Given the description of an element on the screen output the (x, y) to click on. 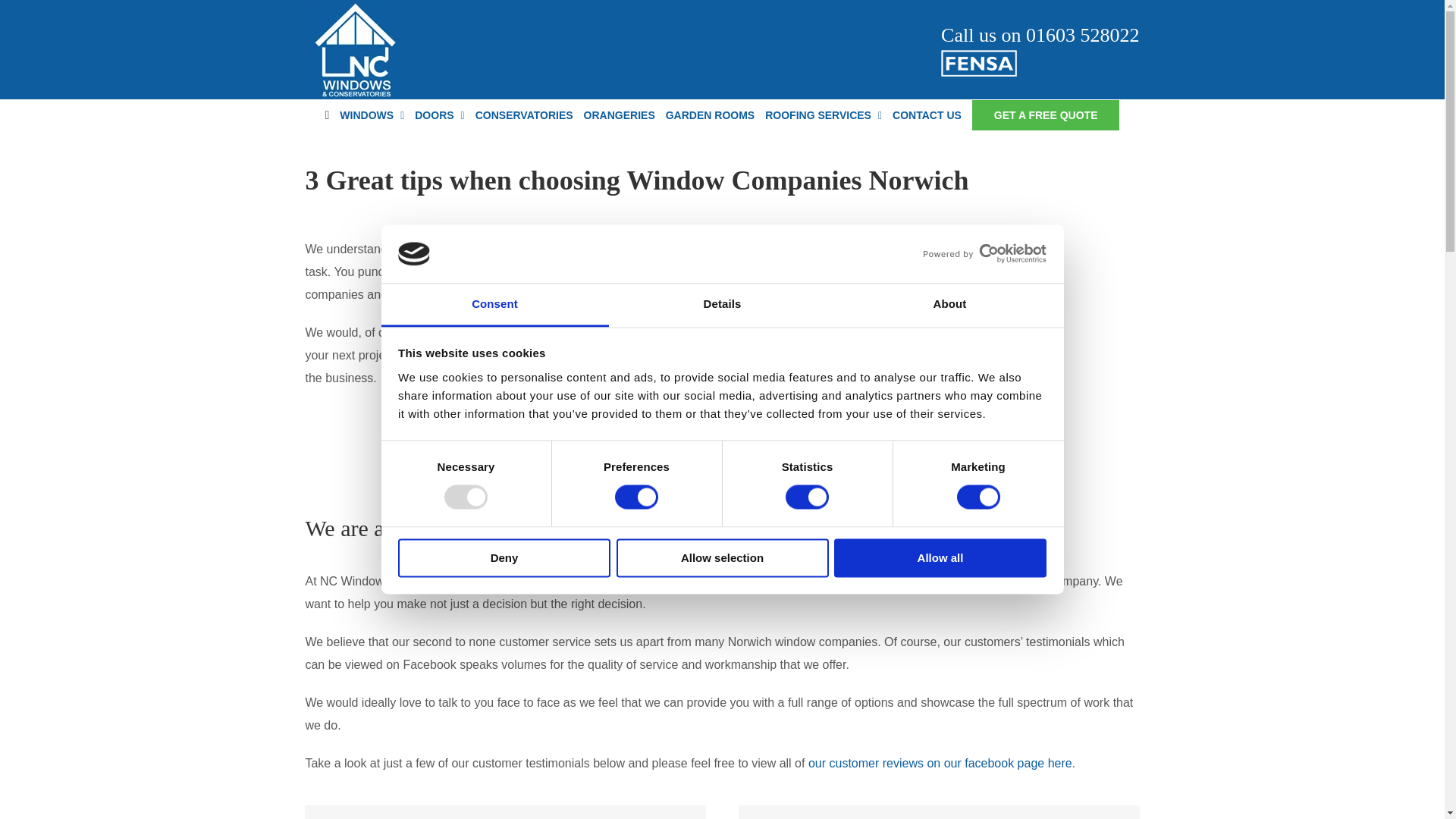
Allow all (940, 557)
About (948, 304)
Deny (503, 557)
window fitting Norwich (1006, 367)
Details (721, 304)
3 Great tips when choosing Window Companies Norwich (721, 184)
Consent (494, 304)
Allow selection (721, 557)
